Given the description of an element on the screen output the (x, y) to click on. 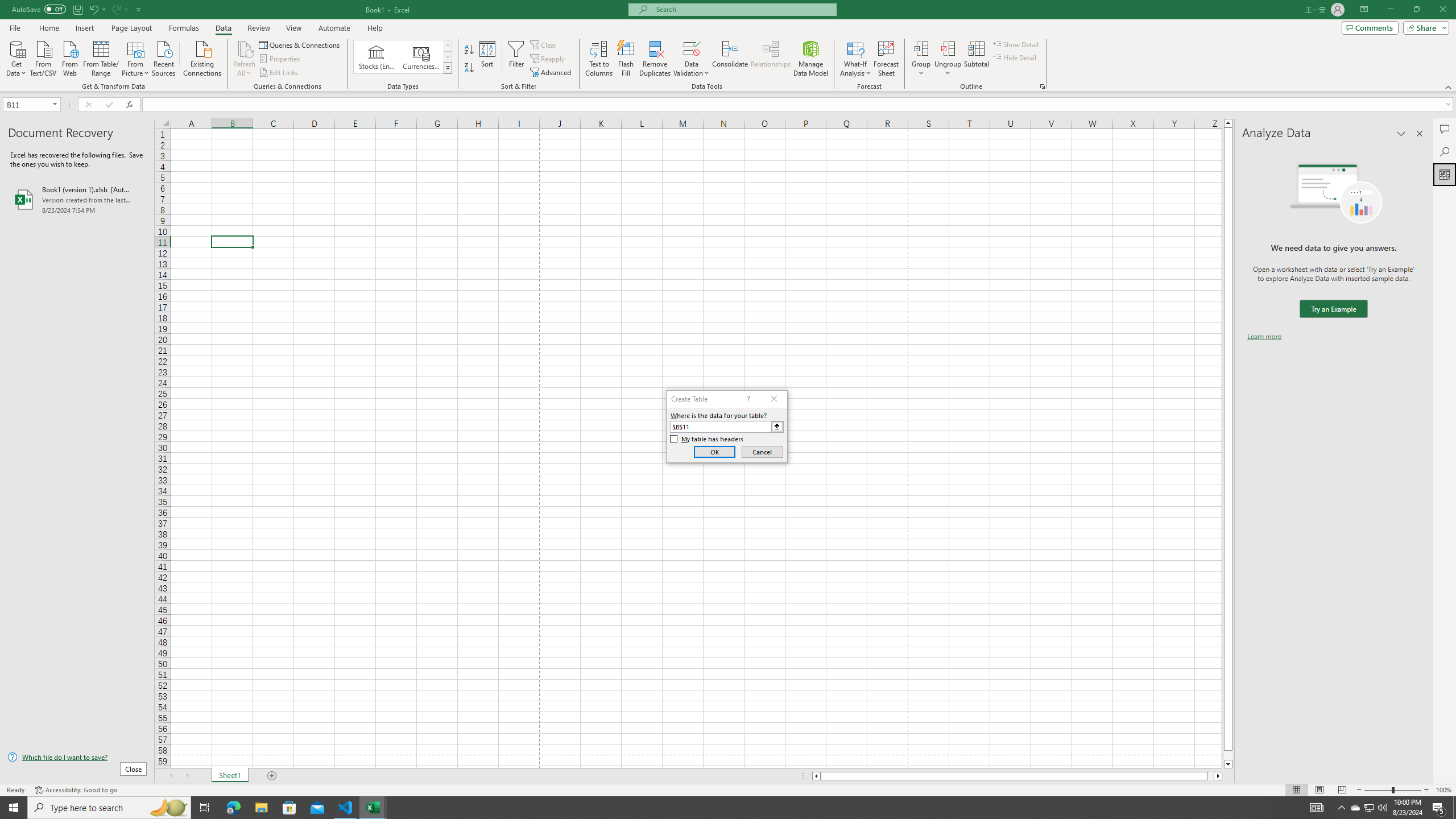
Get Data (16, 57)
Line up (1228, 122)
Redo (119, 9)
Analyze Data (1444, 173)
Which file do I want to save? (77, 757)
Sheet1 (229, 775)
Automate (334, 28)
Queries & Connections (300, 44)
Help (374, 28)
Name Box (27, 104)
From Picture (135, 57)
File Tab (15, 27)
Ungroup... (947, 48)
Recent Sources (163, 57)
Group and Outline Settings (1042, 85)
